Given the description of an element on the screen output the (x, y) to click on. 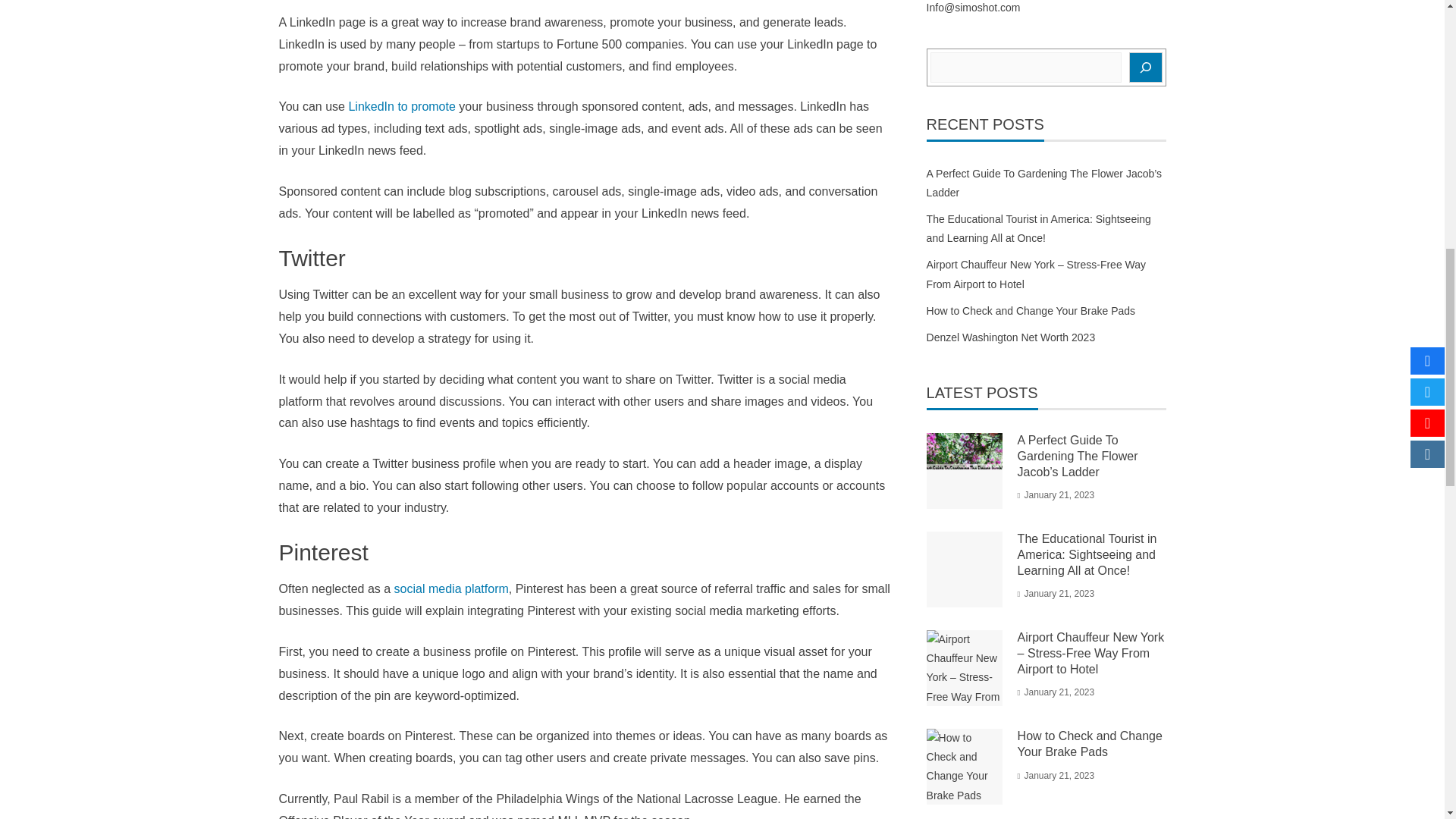
Denzel Washington Net Worth 2023 (1011, 337)
How to Check and Change Your Brake Pads (1089, 743)
LinkedIn to promote (400, 106)
social media platform (451, 588)
How to Check and Change Your Brake Pads (1030, 310)
